Given the description of an element on the screen output the (x, y) to click on. 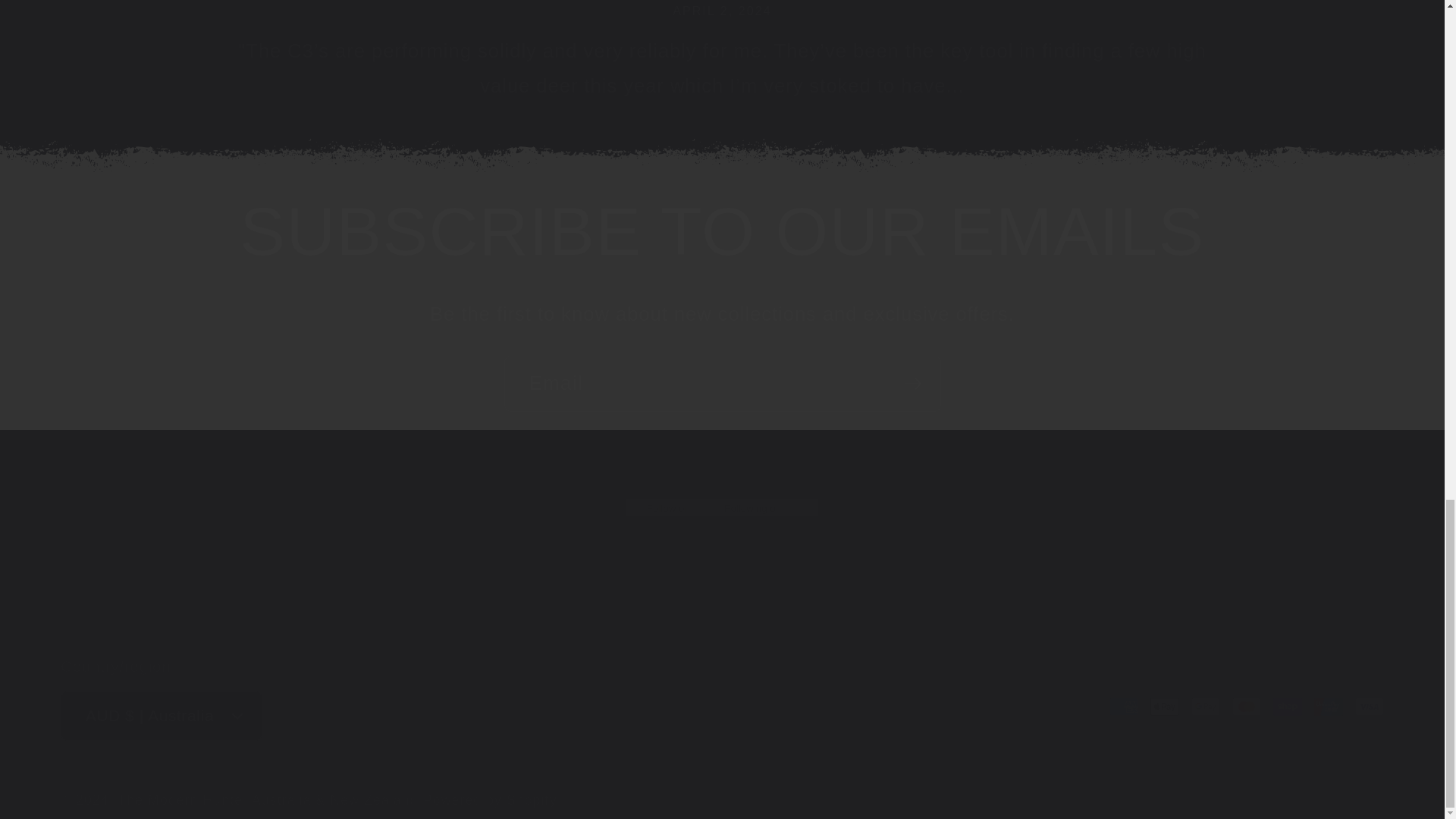
SUBSCRIBE TO OUR EMAILS (722, 231)
Email (721, 383)
